Given the description of an element on the screen output the (x, y) to click on. 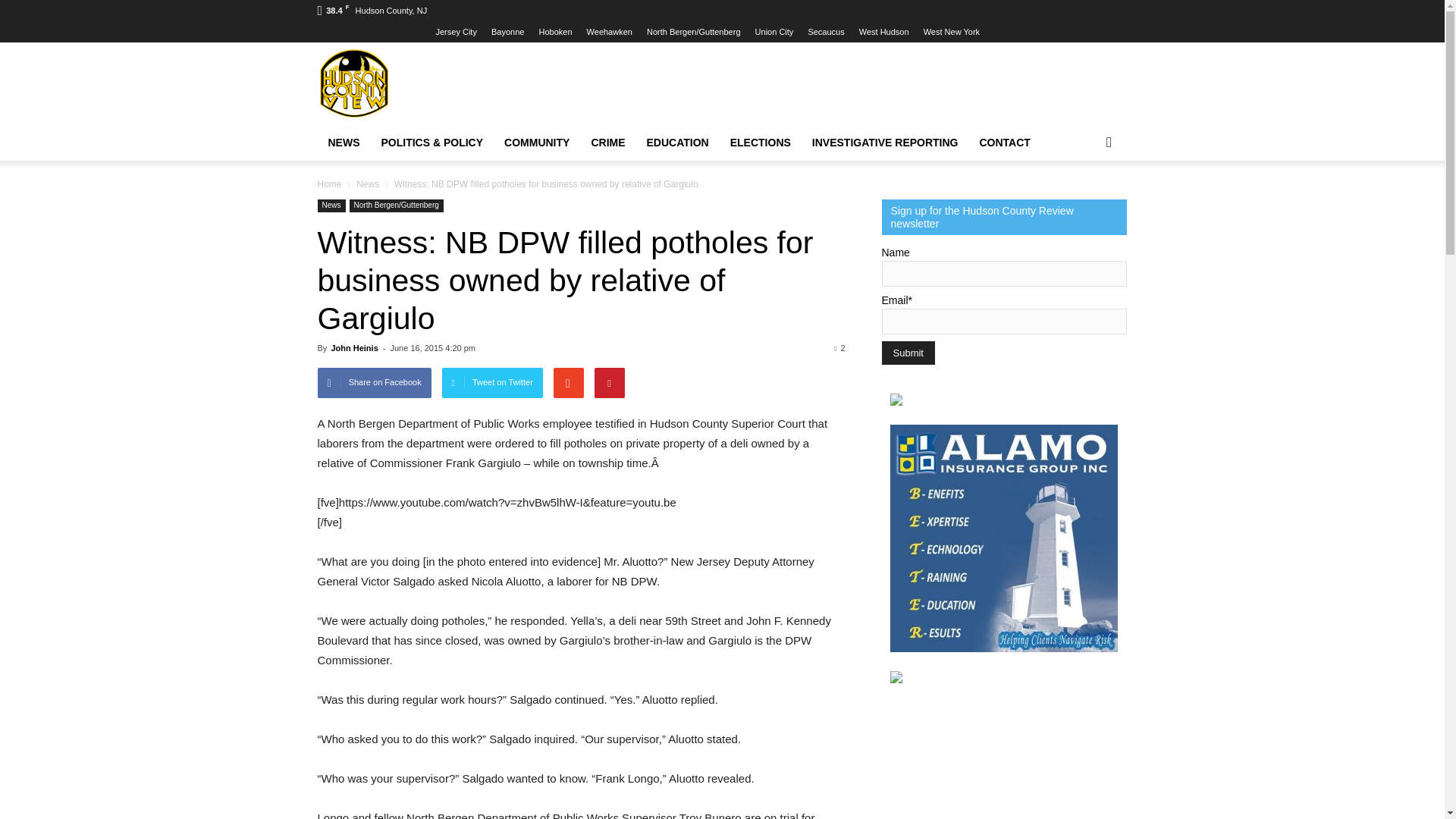
COMMUNITY (536, 142)
INVESTIGATIVE REPORTING (885, 142)
West New York (951, 31)
EDUCATION (677, 142)
Hoboken (555, 31)
Bayonne (508, 31)
Weehawken (608, 31)
Secaucus (826, 31)
CRIME (606, 142)
Union City (774, 31)
CONTACT (1005, 142)
NEWS (343, 142)
Submit (907, 352)
West Hudson (883, 31)
View all posts in News (368, 184)
